Given the description of an element on the screen output the (x, y) to click on. 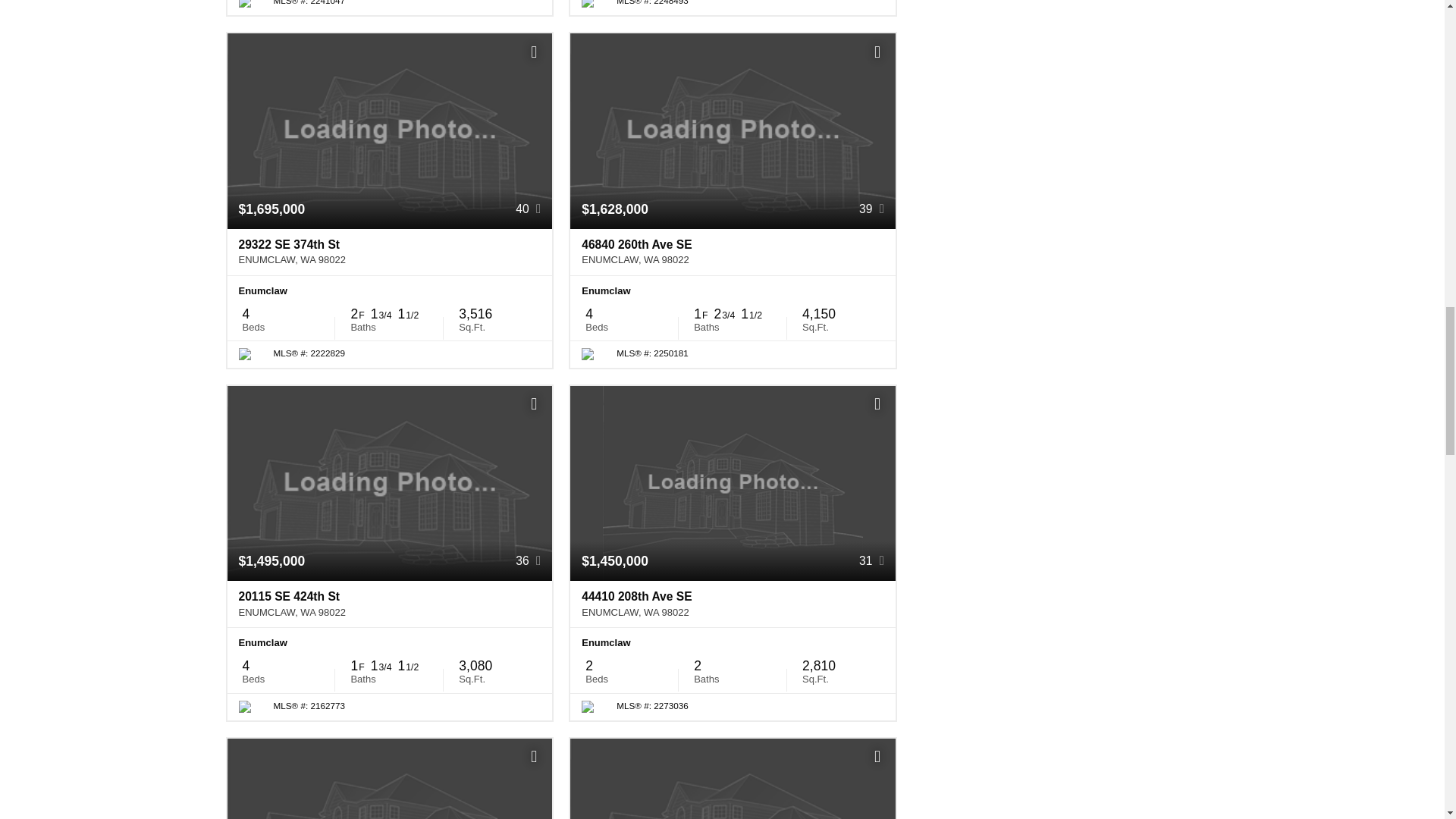
46840 260th Ave SE Enumclaw,  WA 98022 (732, 252)
20115 SE 424th St Enumclaw,  WA 98022 (390, 604)
29322 SE 374th St Enumclaw,  WA 98022 (390, 252)
